Given the description of an element on the screen output the (x, y) to click on. 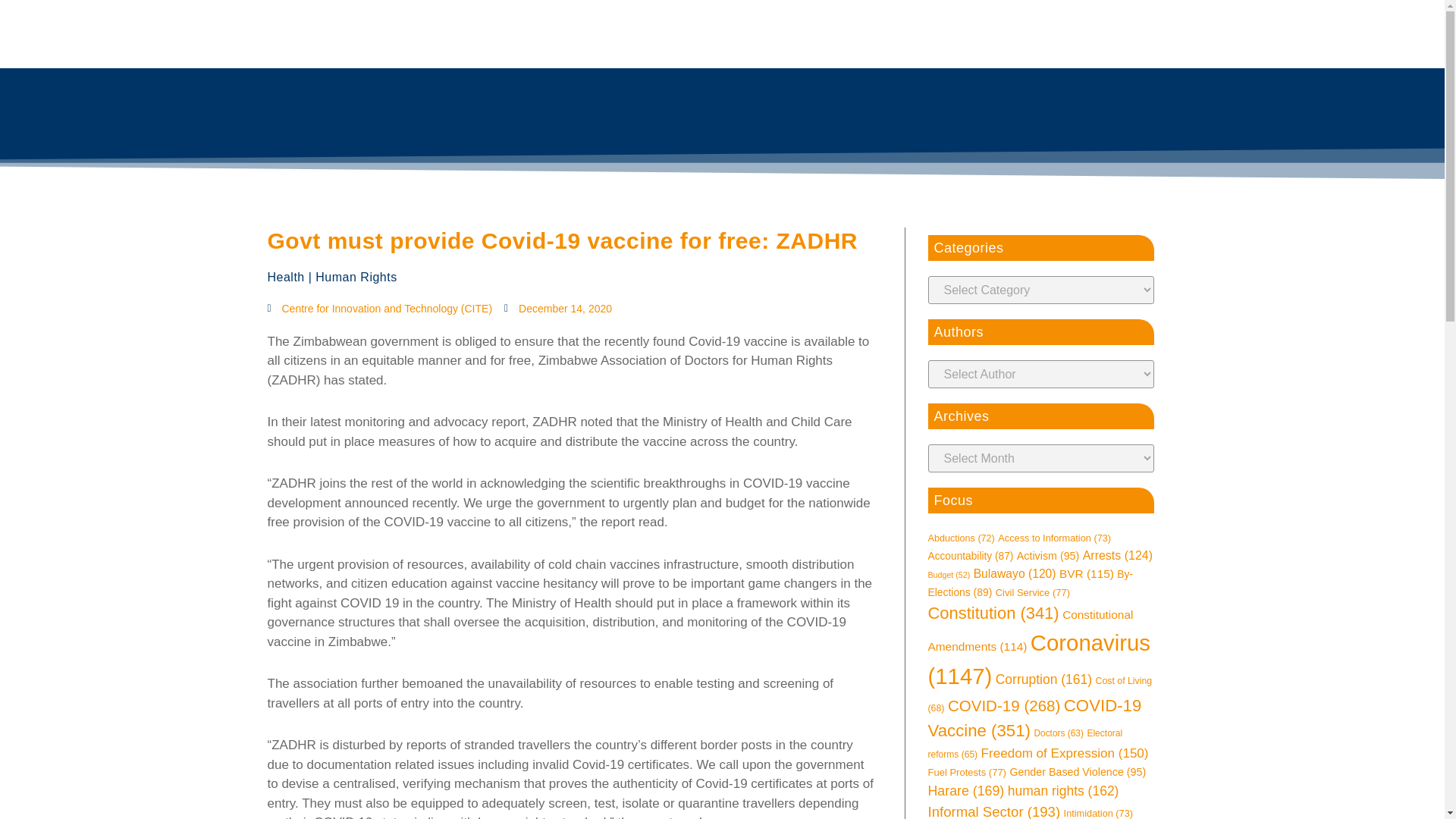
December 14, 2020 (557, 308)
Health (285, 277)
Human Rights (355, 277)
